Given the description of an element on the screen output the (x, y) to click on. 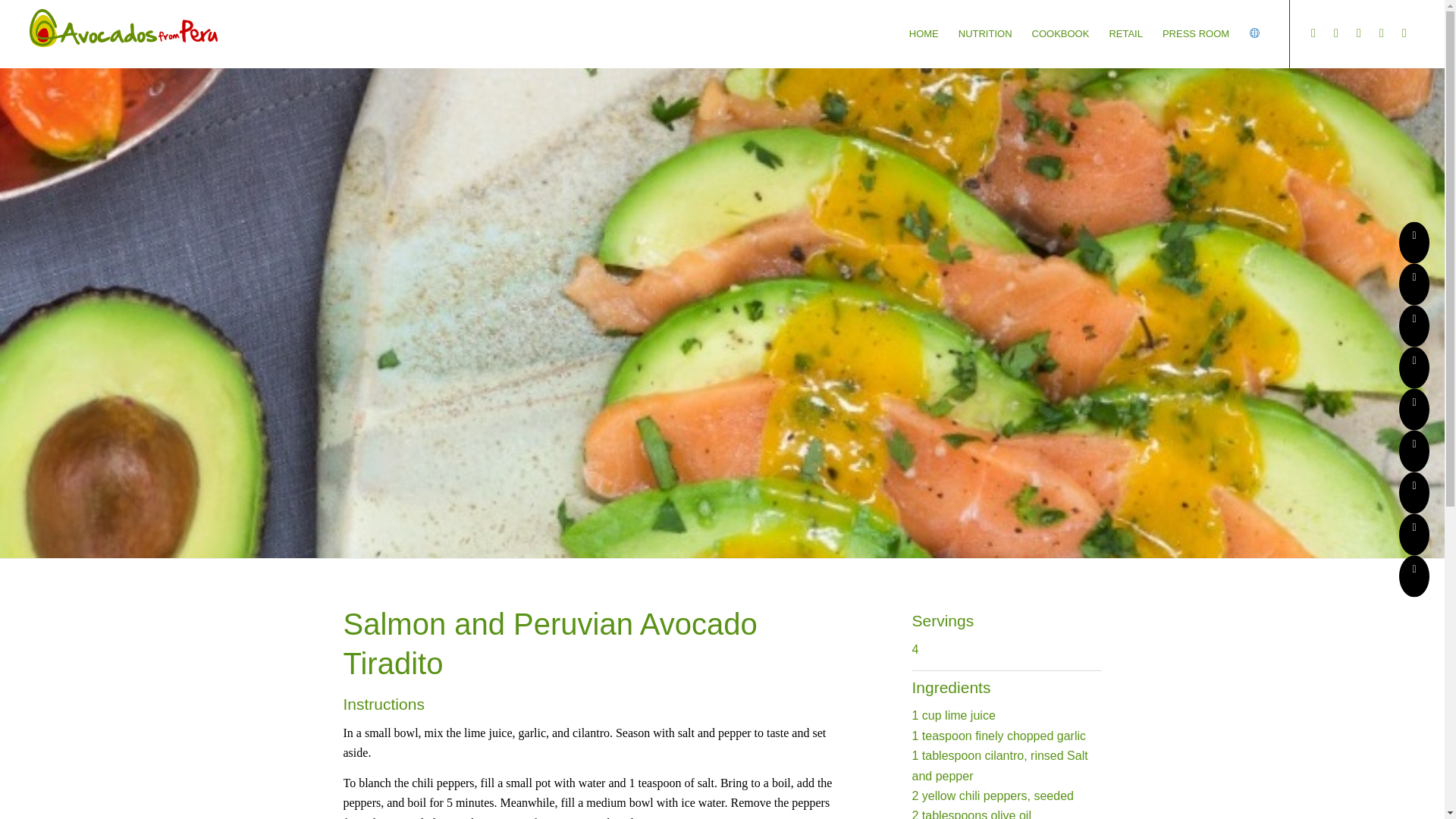
Pinterest (1336, 33)
NUTRITION (985, 33)
COOKBOOK (1060, 33)
Instagram (1359, 33)
Youtube (1404, 33)
RETAIL (1126, 33)
Facebook (1381, 33)
Avocados from Peru (123, 27)
PRESS ROOM (1196, 33)
HOME (924, 33)
Twitter (1312, 33)
